Given the description of an element on the screen output the (x, y) to click on. 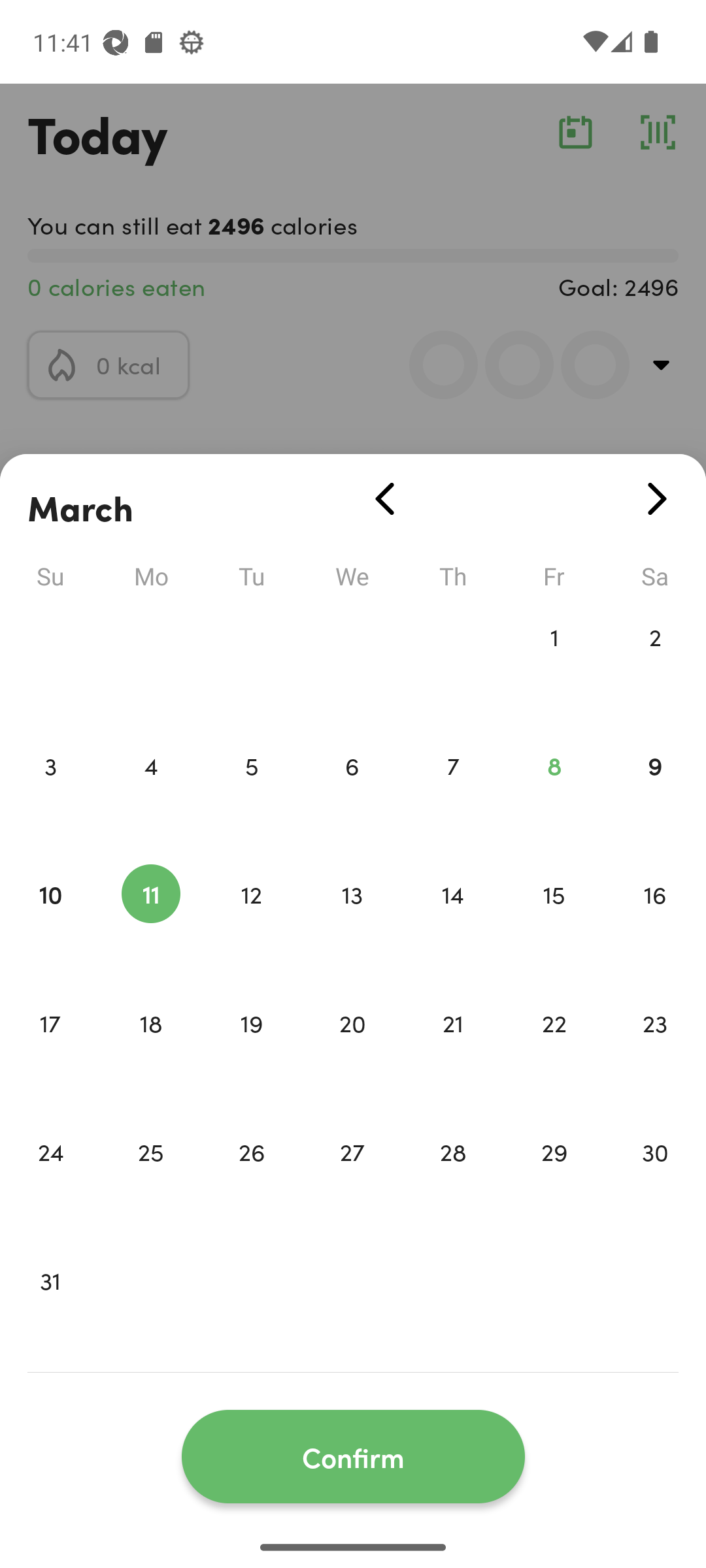
1 (554, 663)
2 (655, 663)
3 (50, 793)
4 (150, 793)
5 (251, 793)
6 (352, 793)
7 (453, 793)
8 (554, 793)
9 (655, 793)
10 (50, 921)
11 (150, 921)
12 (251, 921)
13 (352, 921)
14 (453, 921)
15 (554, 921)
16 (655, 921)
17 (50, 1050)
18 (150, 1050)
19 (251, 1050)
20 (352, 1050)
21 (453, 1050)
22 (554, 1050)
23 (655, 1050)
24 (50, 1178)
25 (150, 1178)
26 (251, 1178)
27 (352, 1178)
28 (453, 1178)
29 (554, 1178)
30 (655, 1178)
31 (50, 1307)
Confirm (353, 1456)
